Given the description of an element on the screen output the (x, y) to click on. 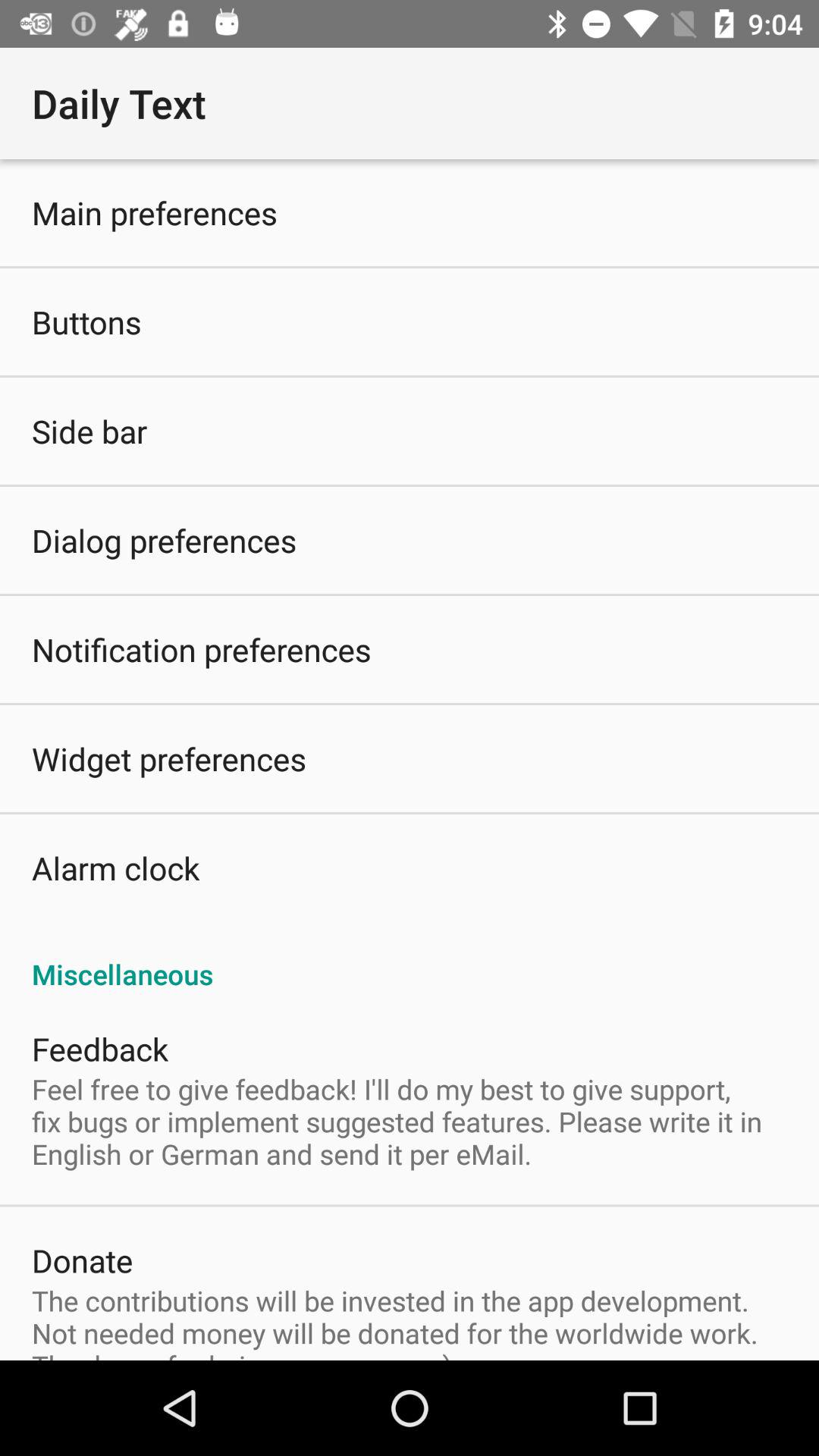
select item below the daily text item (409, 759)
